Given the description of an element on the screen output the (x, y) to click on. 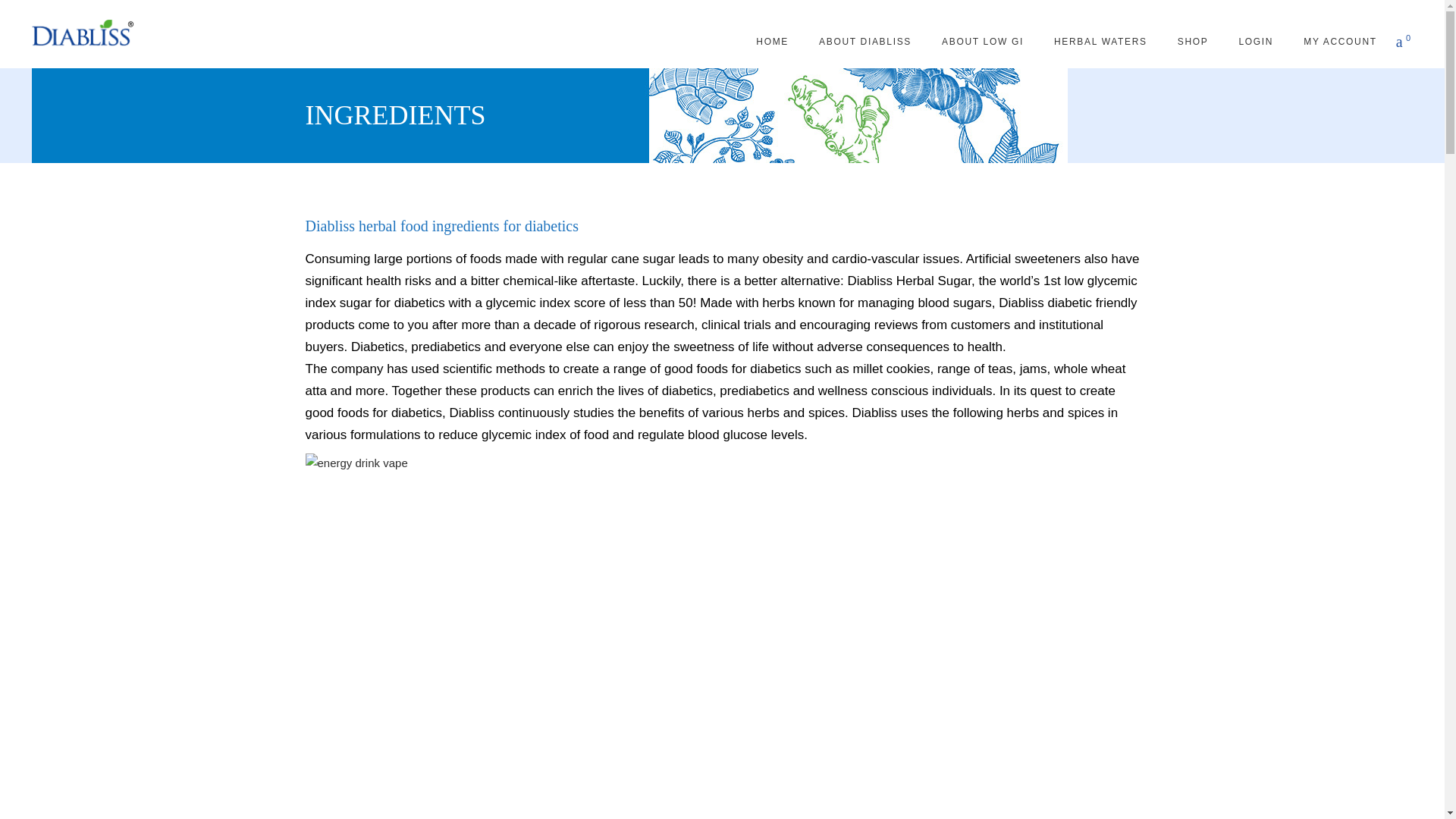
ABOUT DIABLISS (864, 41)
MY ACCOUNT (1339, 41)
HERBAL WATERS (1100, 41)
SHOP (1192, 41)
ABOUT LOW GI (982, 41)
LOGIN (1255, 41)
HOME (772, 41)
